Given the description of an element on the screen output the (x, y) to click on. 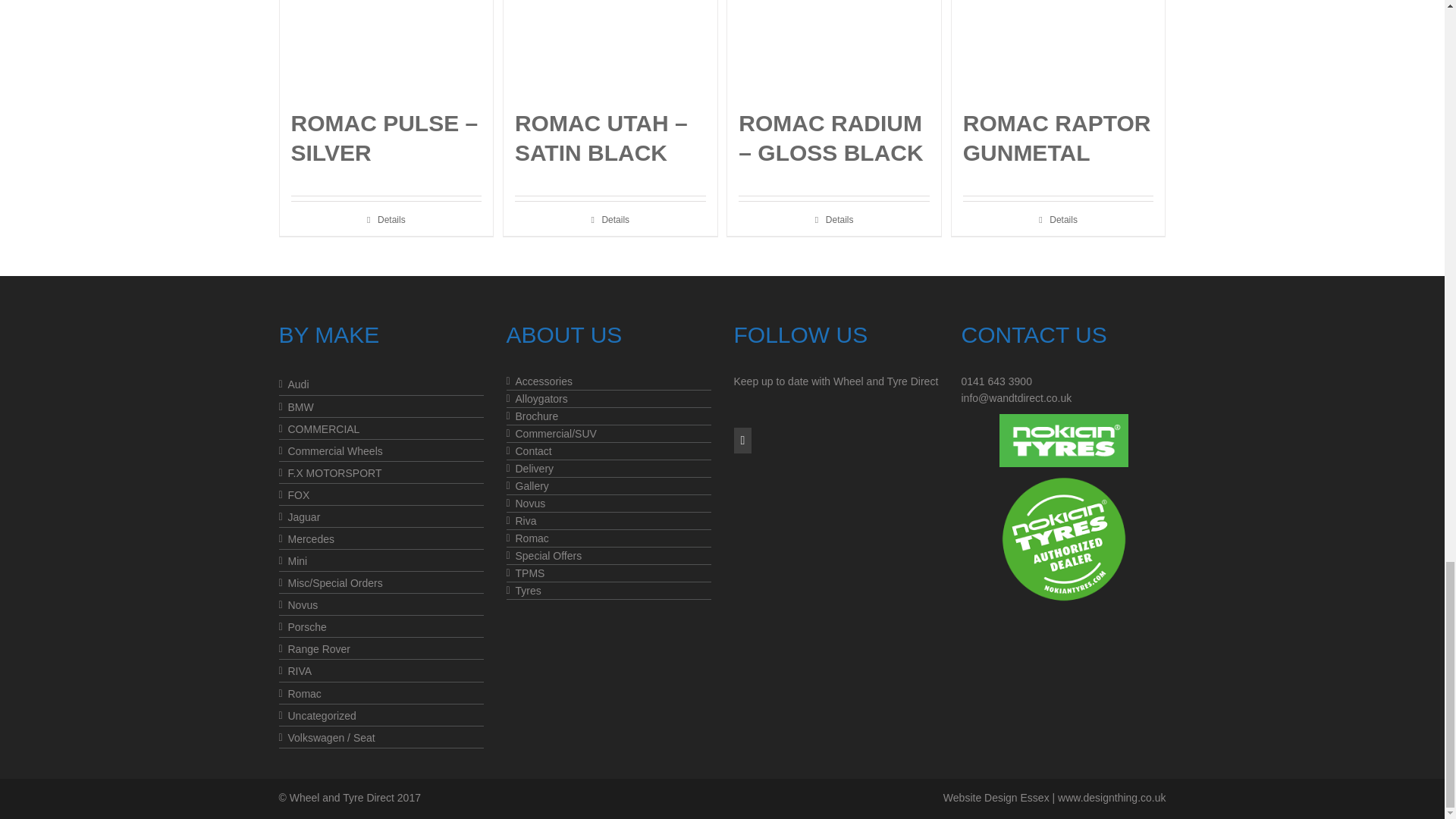
Leading Essex Website Design (996, 797)
Leading Essex Website Design (1112, 797)
